Given the description of an element on the screen output the (x, y) to click on. 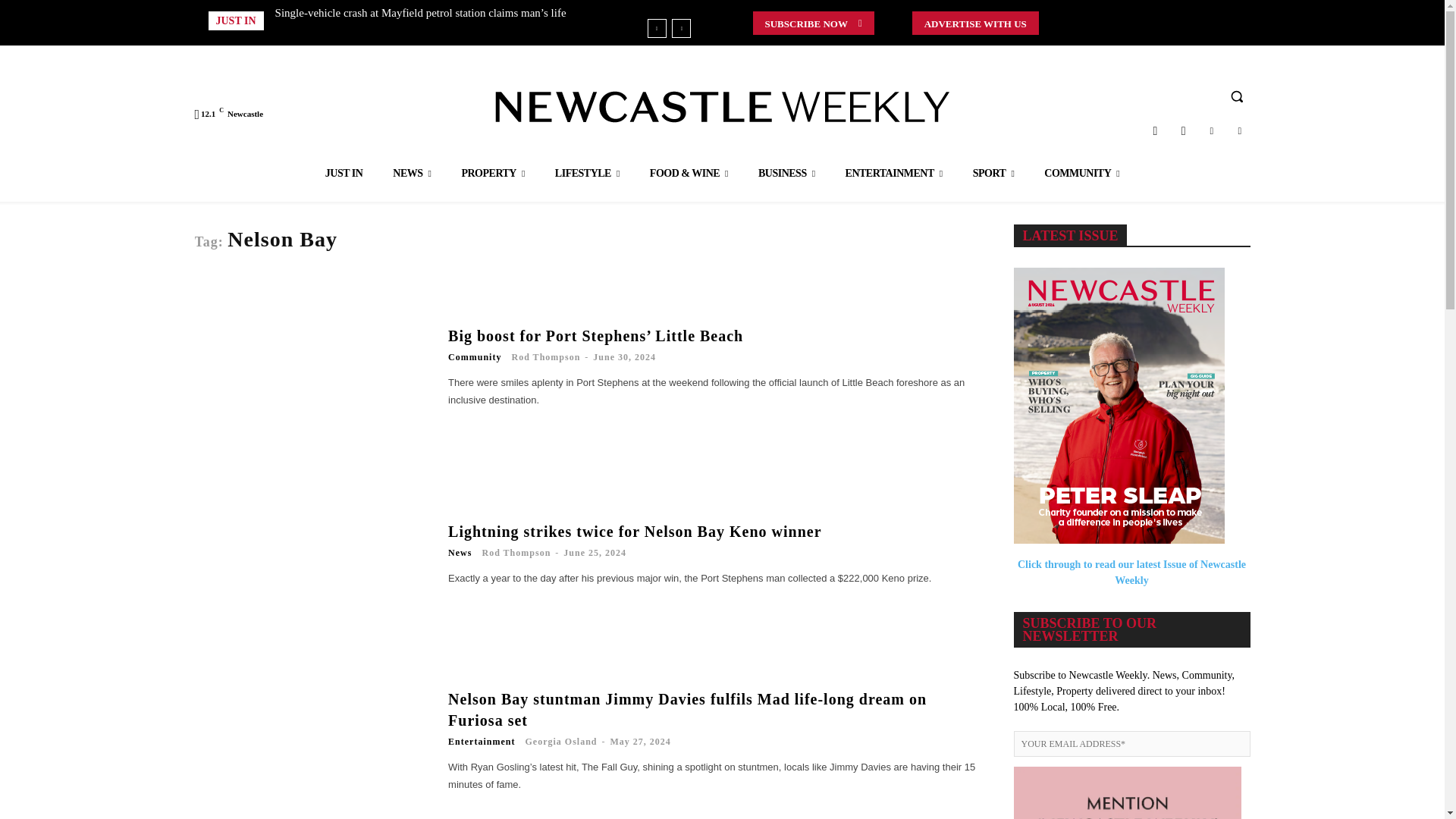
Facebook (1183, 130)
Instagram (1155, 130)
ADVERTISE WITH US (975, 22)
SUBSCRIBE NOW (812, 22)
Twitter (1211, 130)
Newscastle Weekly (722, 106)
JUST IN (344, 173)
